Given the description of an element on the screen output the (x, y) to click on. 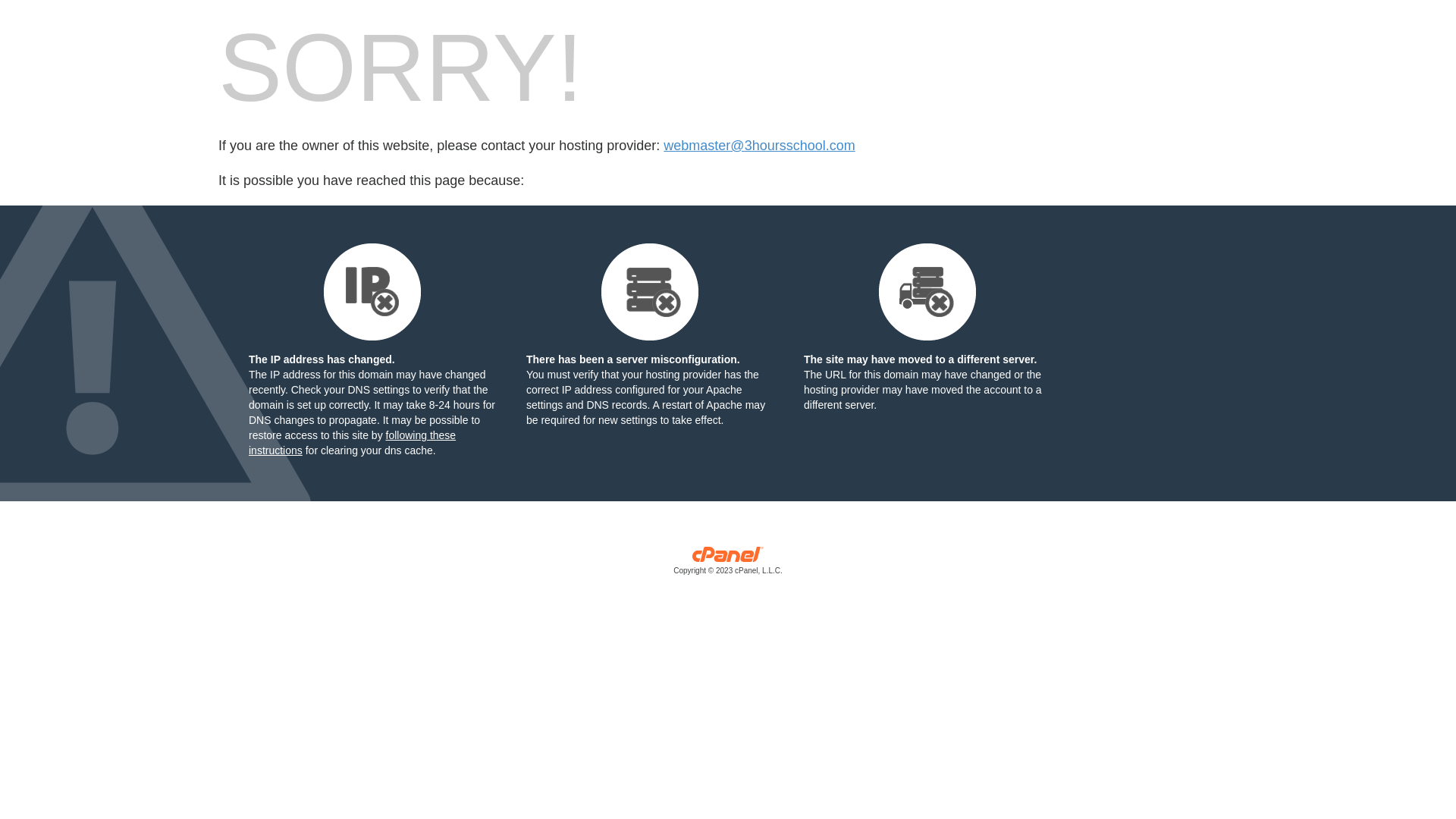
following these instructions Element type: text (351, 442)
webmaster@3hoursschool.com Element type: text (758, 145)
